Given the description of an element on the screen output the (x, y) to click on. 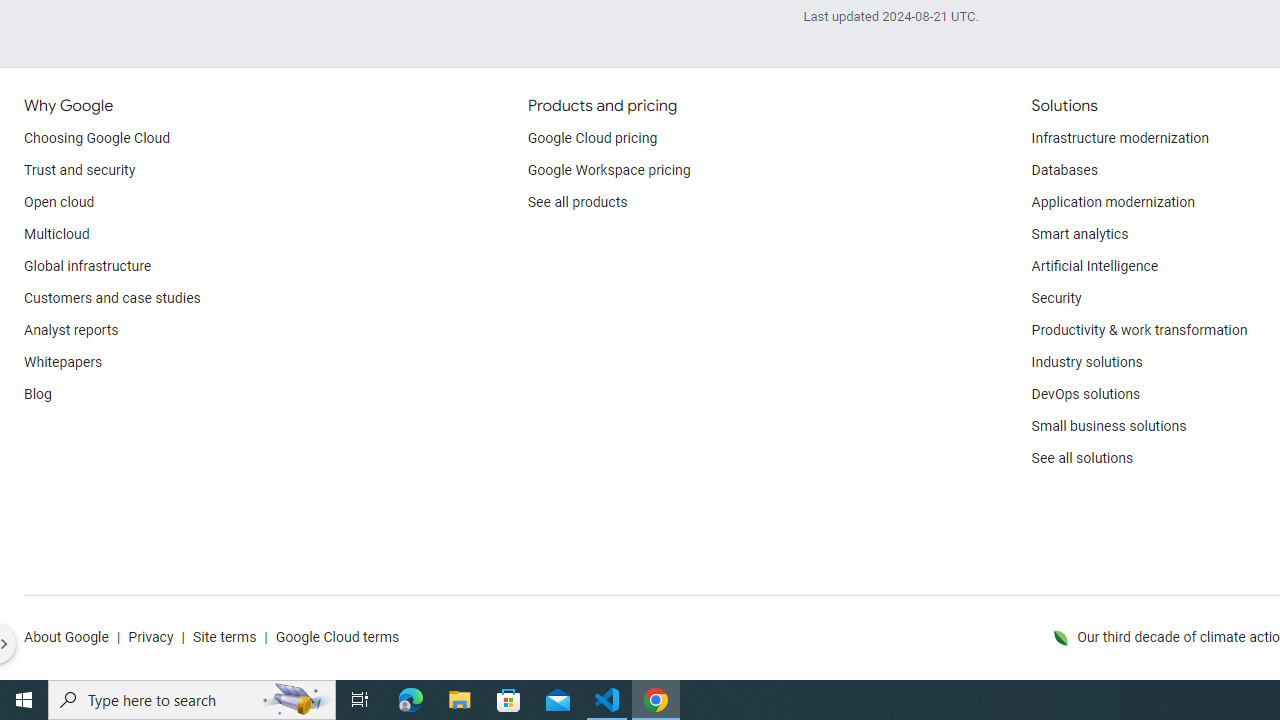
Whitepapers (63, 362)
Trust and security (79, 170)
Productivity & work transformation (1139, 331)
Google Cloud pricing (592, 138)
Google Workspace pricing (609, 170)
Databases (1064, 170)
Application modernization (1112, 202)
See all products (577, 202)
Artificial Intelligence (1094, 266)
See all solutions (1082, 458)
Security (1055, 298)
Industry solutions (1086, 362)
